Given the description of an element on the screen output the (x, y) to click on. 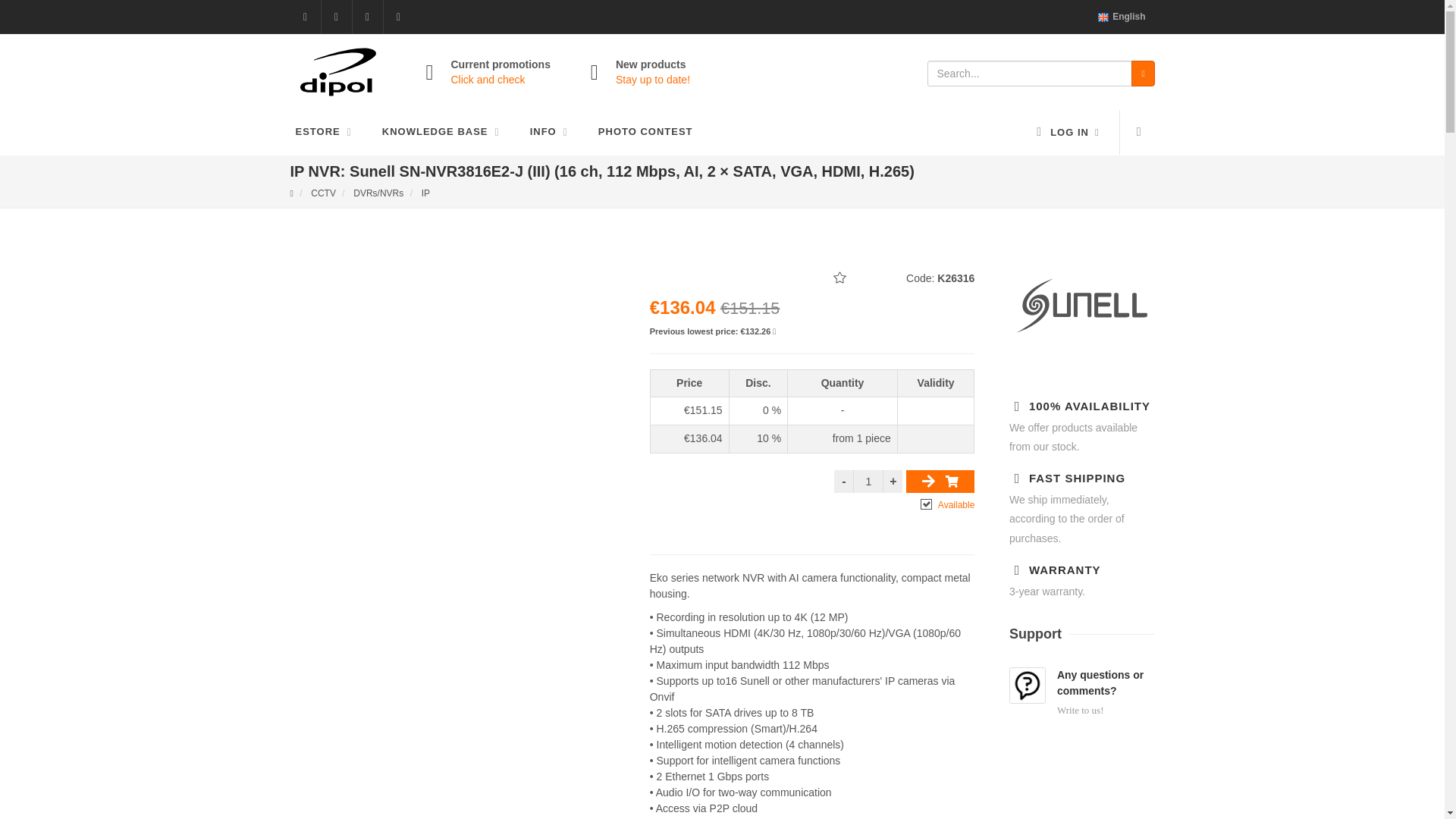
Available (926, 502)
English (1120, 16)
Add to your Favorites (839, 278)
1 (868, 481)
Stay up to date! (652, 79)
Click and check (486, 79)
Qty (868, 481)
ESTORE (322, 131)
Sunell (1081, 337)
